Given the description of an element on the screen output the (x, y) to click on. 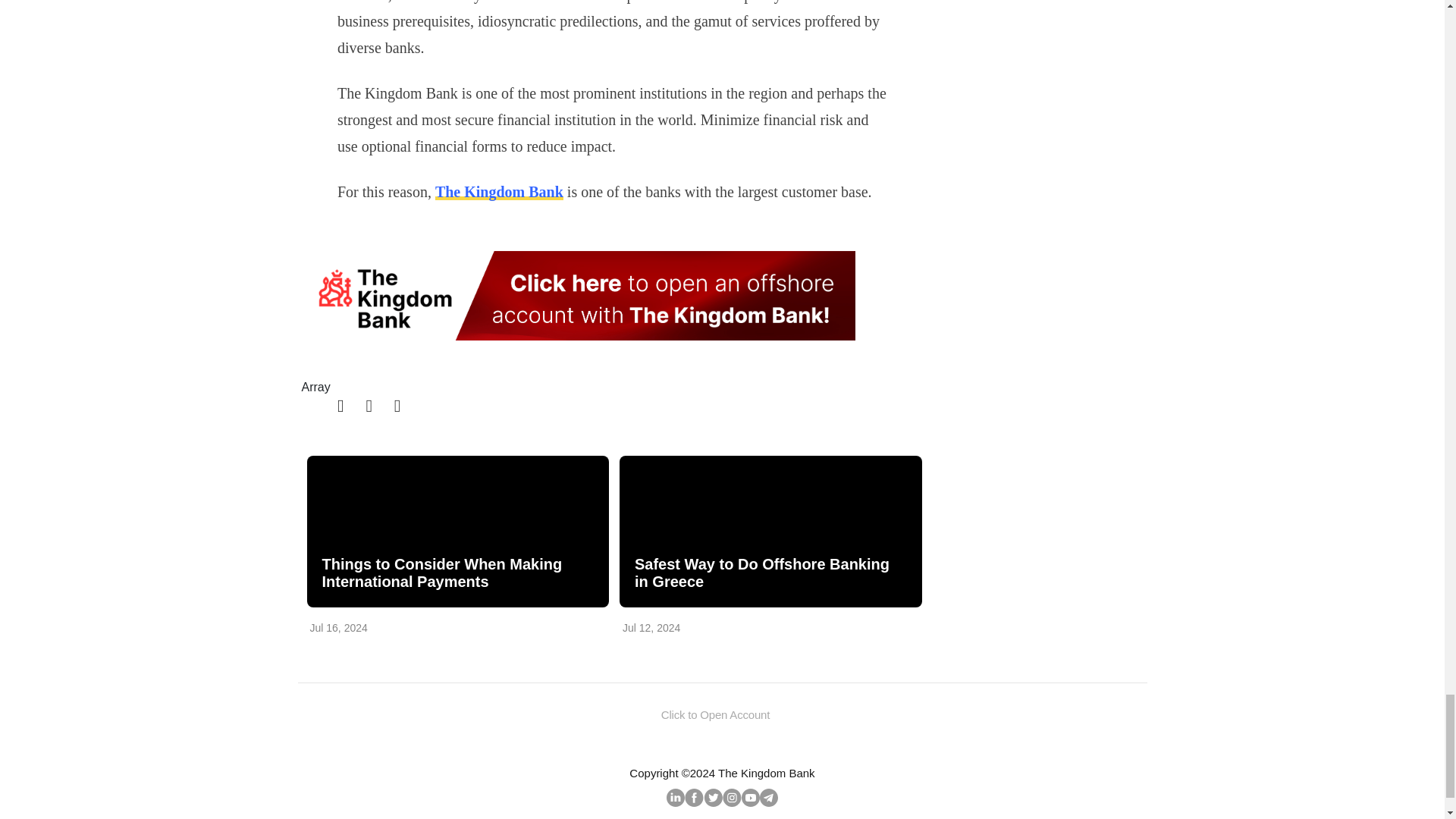
Things to Consider When Making International Payments (456, 573)
Safest Way to Do Offshore Banking in Greece (770, 531)
Safest Way to Do Offshore Banking in Greece (769, 573)
The Kingdom Bank (499, 191)
Things to Consider When Making International Payments (456, 531)
